Given the description of an element on the screen output the (x, y) to click on. 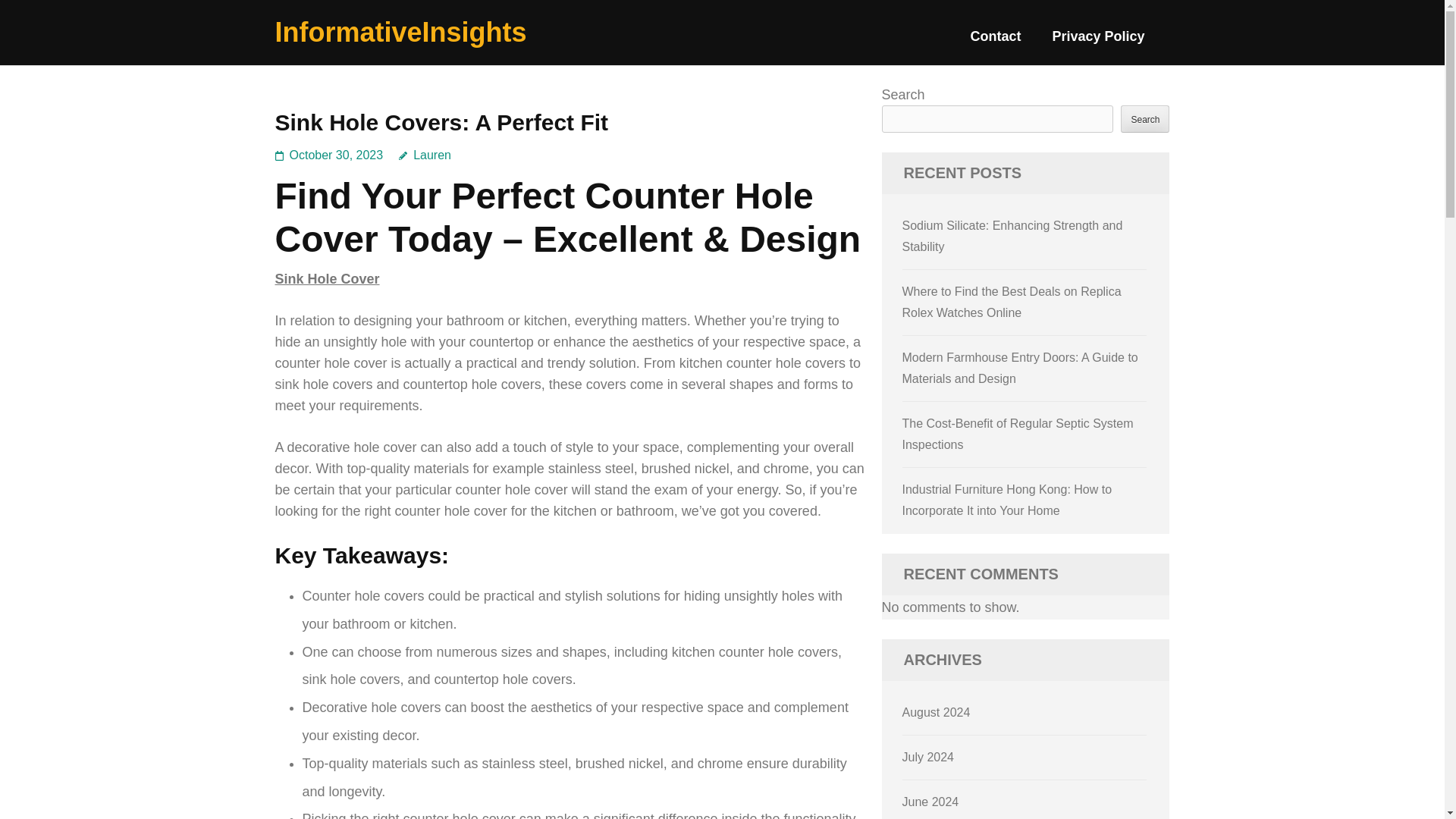
InformativeInsights (400, 31)
Contact (994, 42)
Privacy Policy (1097, 42)
July 2024 (928, 757)
Lauren (424, 154)
June 2024 (930, 801)
The Cost-Benefit of Regular Septic System Inspections (1018, 433)
Search (1145, 118)
Sodium Silicate: Enhancing Strength and Stability (1012, 236)
